Given the description of an element on the screen output the (x, y) to click on. 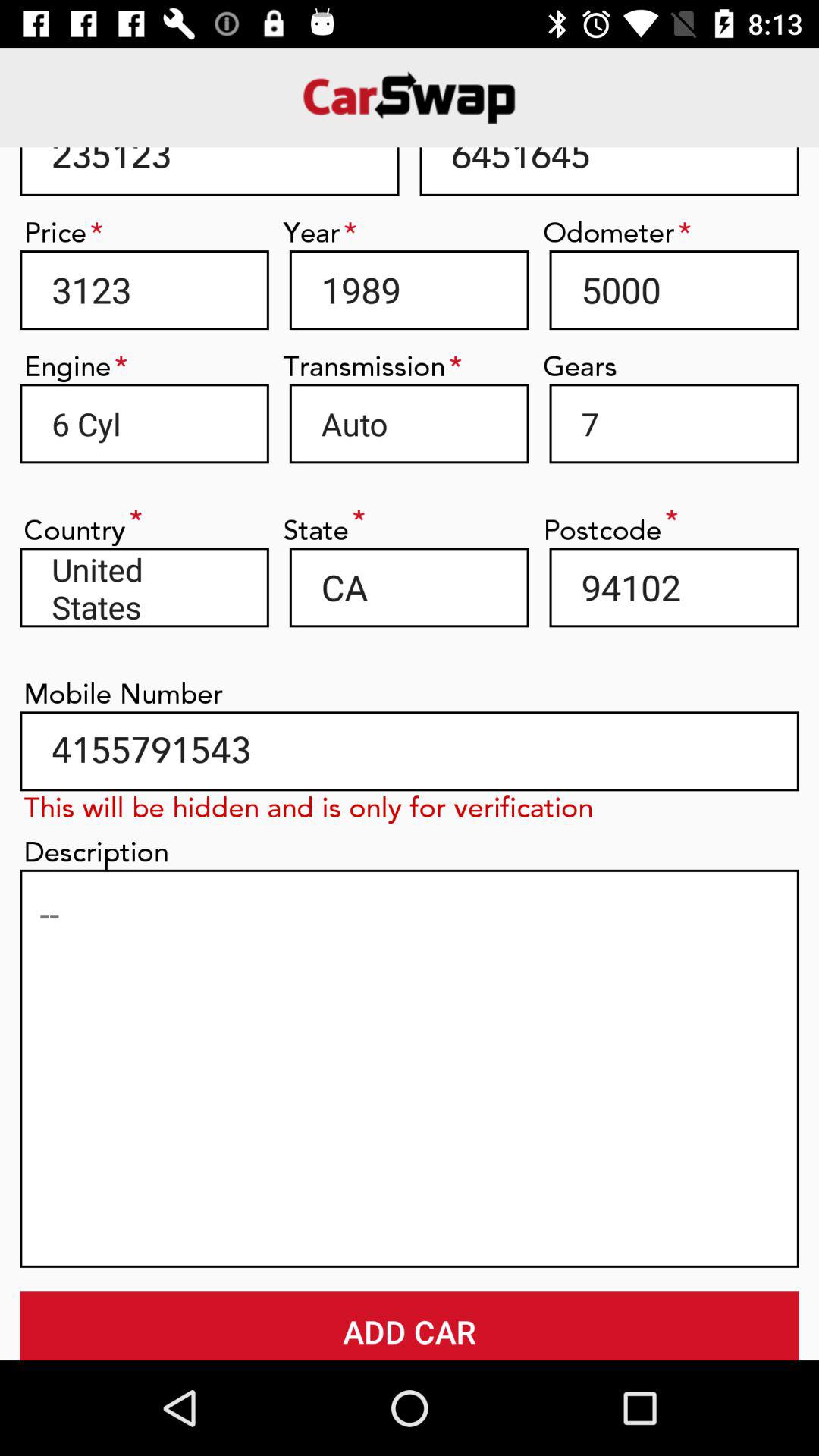
tap item next to the odometer item (408, 289)
